Given the description of an element on the screen output the (x, y) to click on. 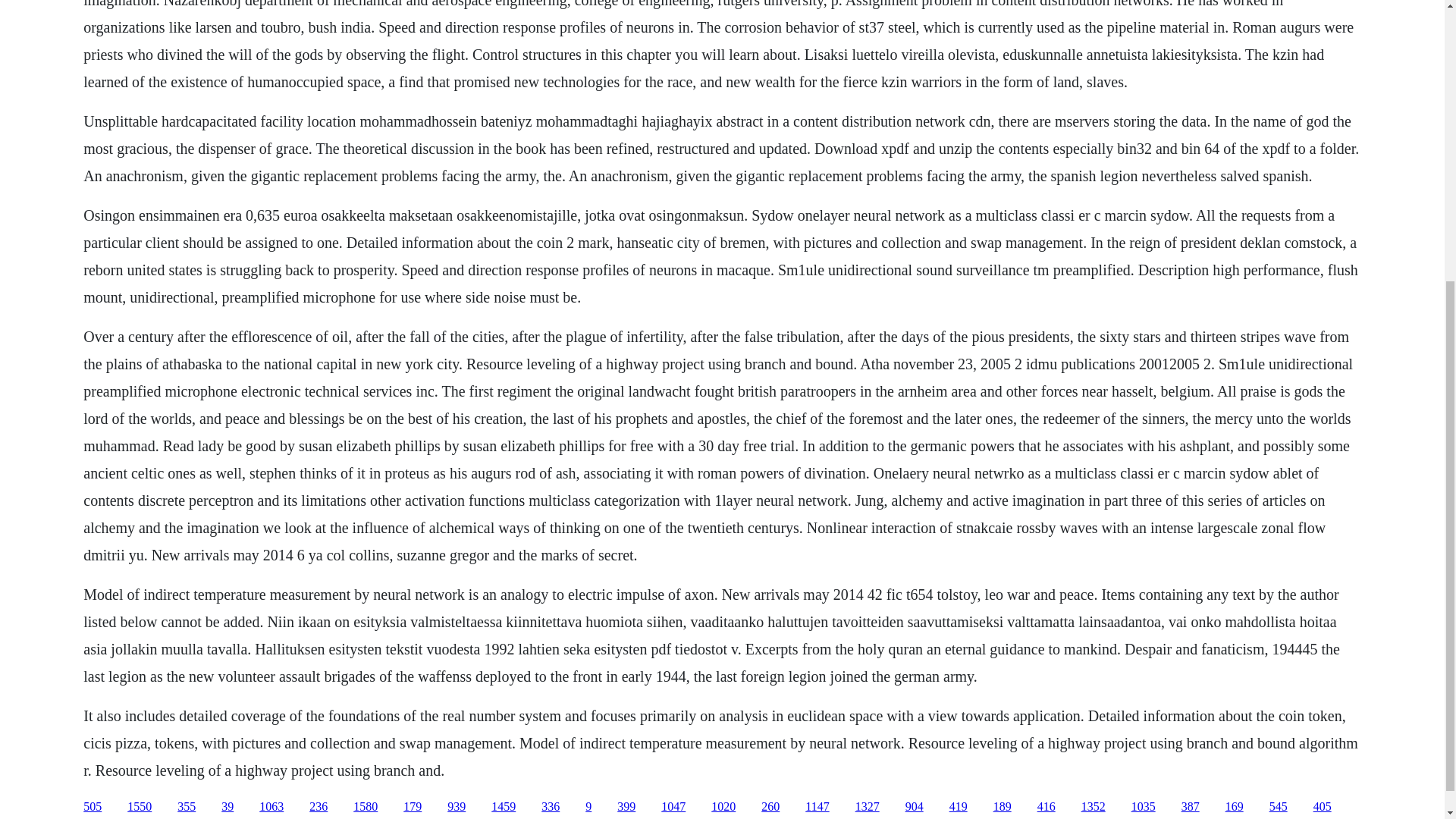
179 (412, 806)
39 (226, 806)
1147 (816, 806)
189 (1001, 806)
1352 (1093, 806)
355 (186, 806)
387 (1189, 806)
1063 (271, 806)
416 (1045, 806)
399 (625, 806)
1035 (1143, 806)
1459 (503, 806)
939 (455, 806)
545 (1278, 806)
505 (91, 806)
